Given the description of an element on the screen output the (x, y) to click on. 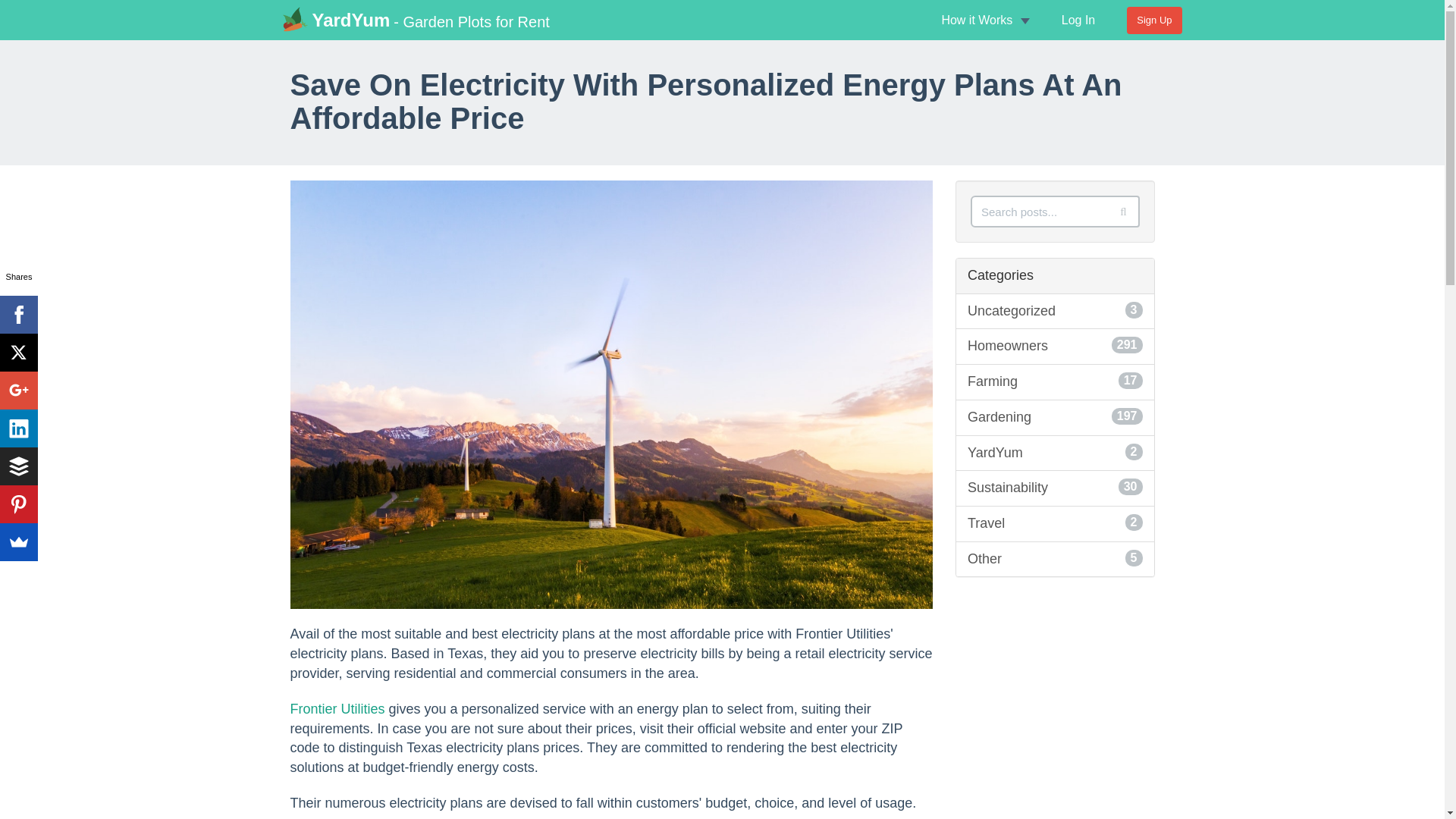
Pinterest (18, 504)
Sign Up (1055, 559)
LinkedIn (1153, 20)
YardYum (18, 428)
Frontier Utilities (334, 18)
Buffer (336, 708)
SumoMe (18, 466)
Facebook (1055, 381)
X (18, 542)
